Given the description of an element on the screen output the (x, y) to click on. 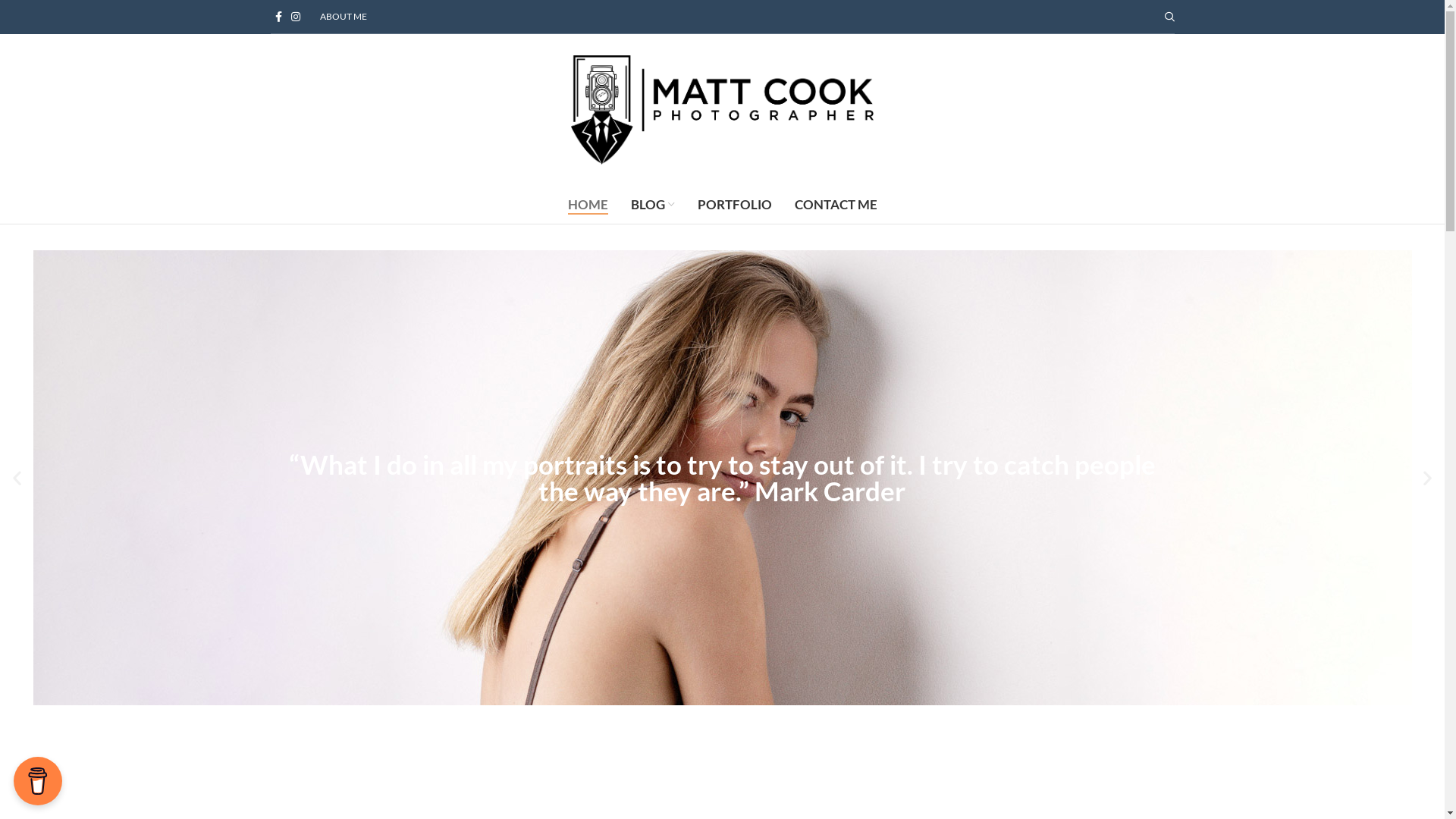
ABOUT ME Element type: text (343, 16)
Search Element type: hover (1169, 16)
BLOG Element type: text (651, 204)
PORTFOLIO Element type: text (733, 204)
CONTACT ME Element type: text (835, 204)
HOME Element type: text (587, 204)
